Given the description of an element on the screen output the (x, y) to click on. 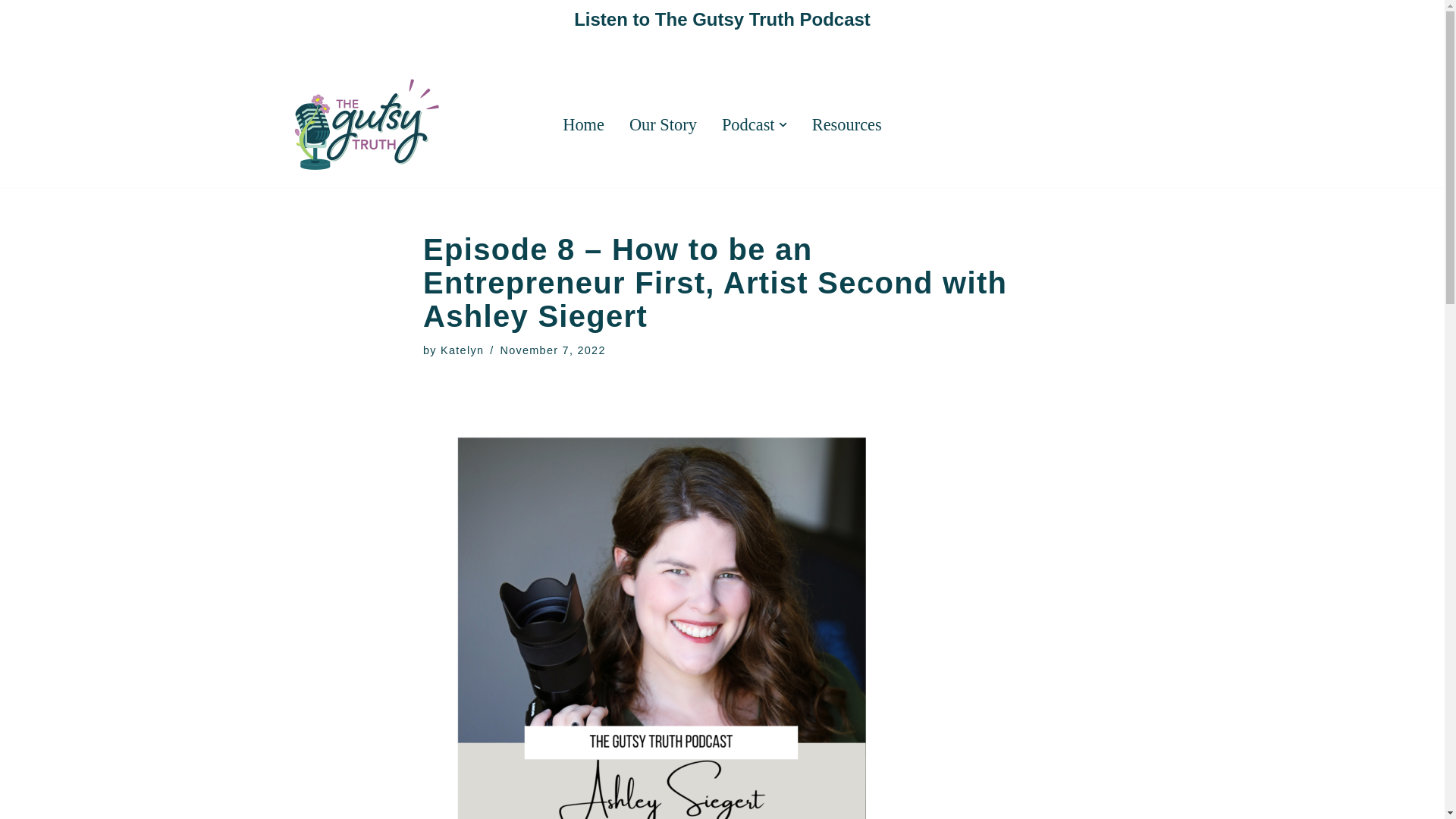
Our Story (662, 124)
Posts by Katelyn (462, 349)
Listen to The Gutsy Truth Podcast (721, 19)
Home (583, 124)
Skip to content (11, 31)
Podcast (748, 124)
Resources (847, 124)
Katelyn (462, 349)
